Given the description of an element on the screen output the (x, y) to click on. 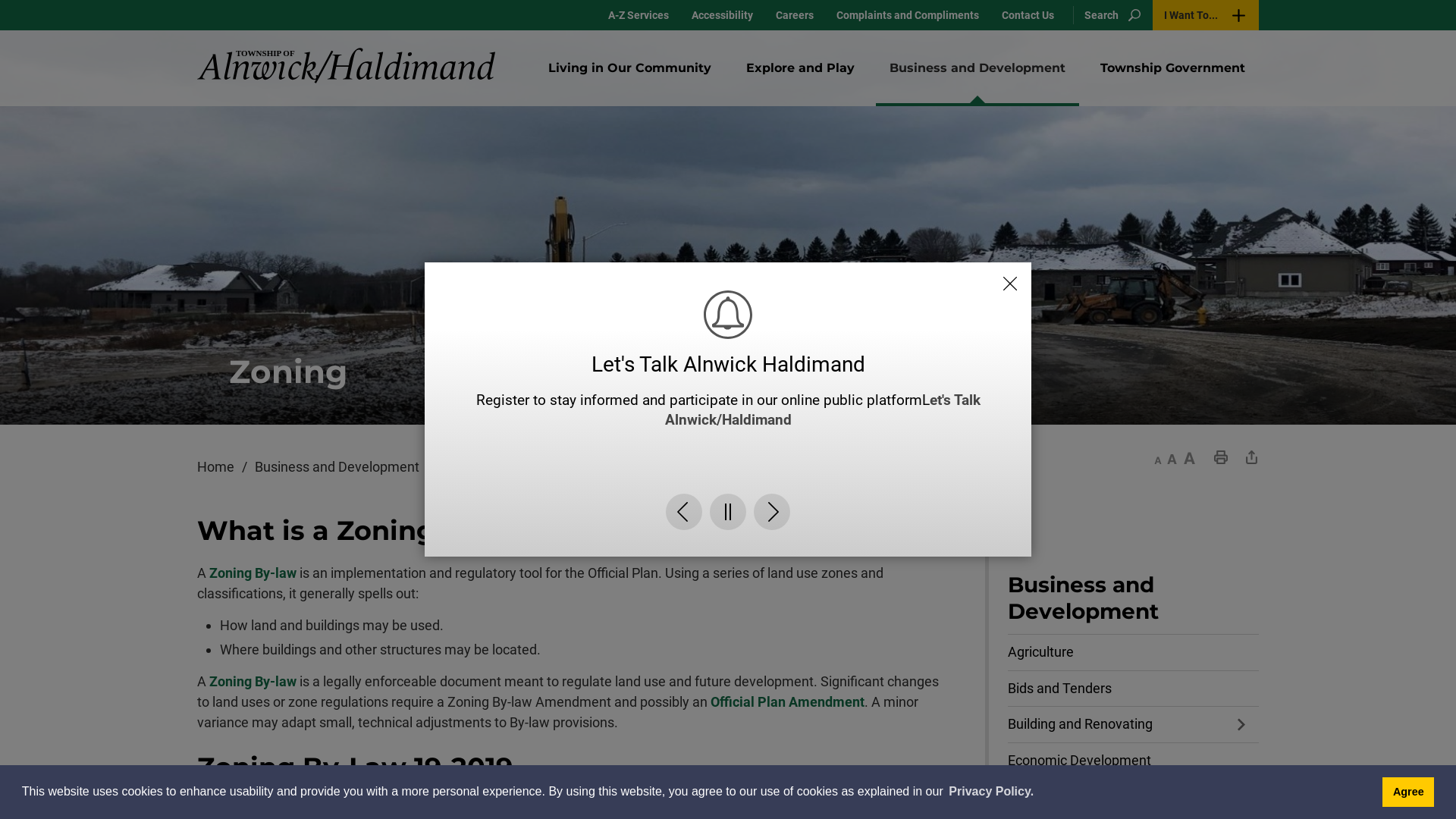
Agriculture Element type: text (1132, 652)
Search Element type: text (1108, 15)
Zoning By-law Element type: text (252, 681)
Next Element type: text (771, 511)
Township Government Element type: text (1172, 68)
Living in Our Community Element type: text (629, 68)
Home Element type: text (225, 466)
Pause Element type: text (727, 511)
Business and Development Element type: text (977, 68)
Building and Renovating Element type: text (1132, 724)
Bids and Tenders Element type: text (1132, 688)
Agree Element type: text (1408, 791)
Increase text size Element type: text (1189, 456)
Business and Development Element type: text (346, 466)
Previous Element type: text (683, 511)
Zoning By-law Element type: text (252, 572)
Contact Us Element type: text (1027, 14)
Close Alert Banner Element type: text (1009, 283)
Official Plan Amendment Element type: text (787, 701)
et's Talk Alnwick/Haldimand Element type: text (821, 410)
Print This Page Element type: text (1220, 456)
Careers Element type: text (794, 14)
Explore and Play Element type: text (800, 68)
Click to return to the homepage Element type: hover (346, 65)
Economic Development Element type: text (1132, 760)
Privacy Policy. Element type: text (990, 791)
Accessibility Element type: text (722, 14)
Business and Development Element type: text (1132, 602)
Share This Page Element type: text (1251, 456)
Skip to Content Element type: text (0, 0)
I Want To... Element type: text (1205, 15)
Decrease text size Element type: text (1157, 456)
A-Z Services Element type: text (638, 14)
Complaints and Compliments Element type: text (907, 14)
Default text size Element type: text (1171, 456)
